Given the description of an element on the screen output the (x, y) to click on. 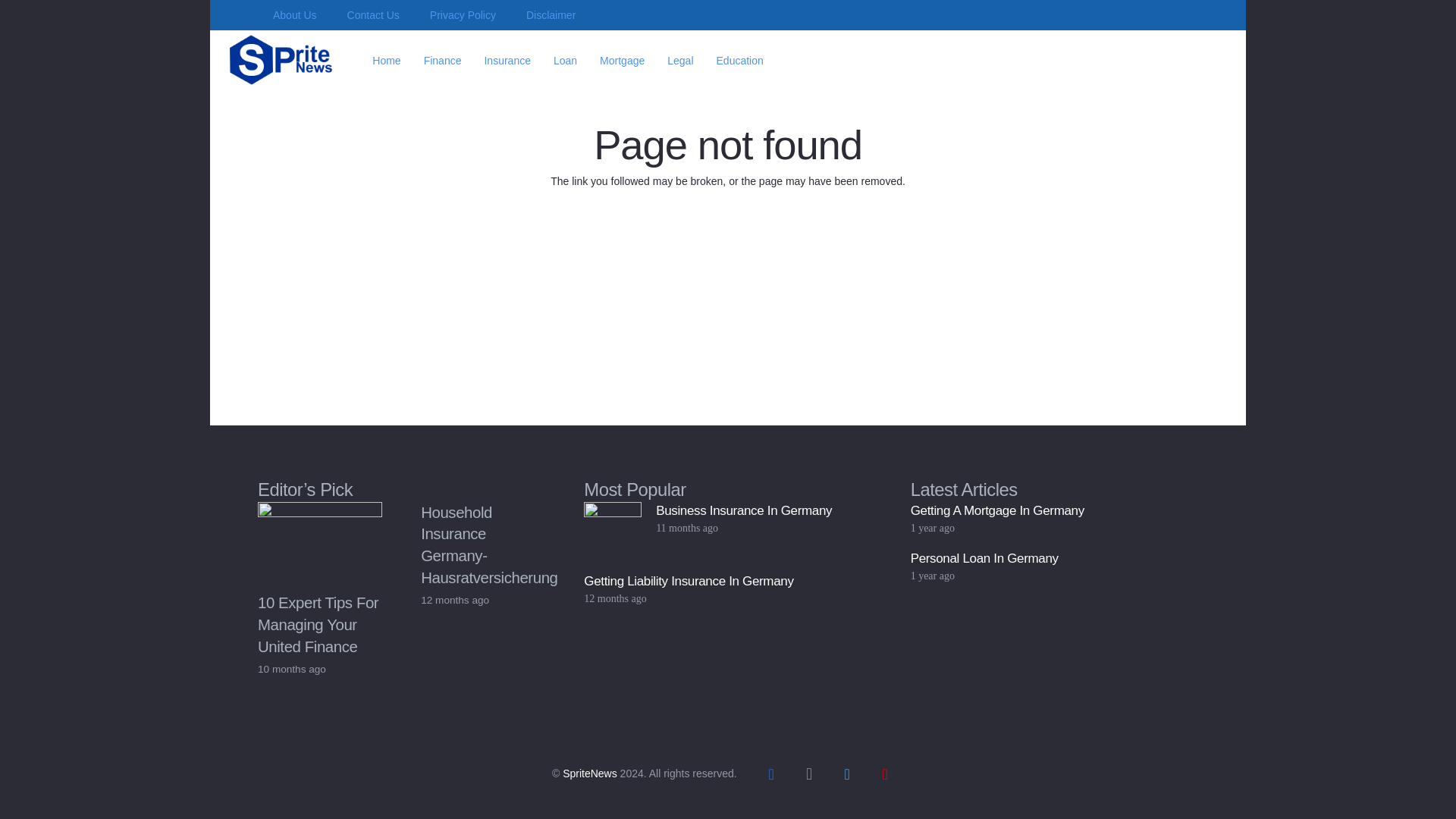
10 Expert Tips For Managing Your United Finance (317, 624)
Privacy Policy (462, 15)
Mortgage (622, 60)
Education (739, 60)
Business Insurance In Germany (743, 510)
Getting Liability Insurance In Germany (688, 581)
Twitter (847, 774)
About Us (294, 15)
Finance (442, 60)
SpriteNews (589, 773)
